Given the description of an element on the screen output the (x, y) to click on. 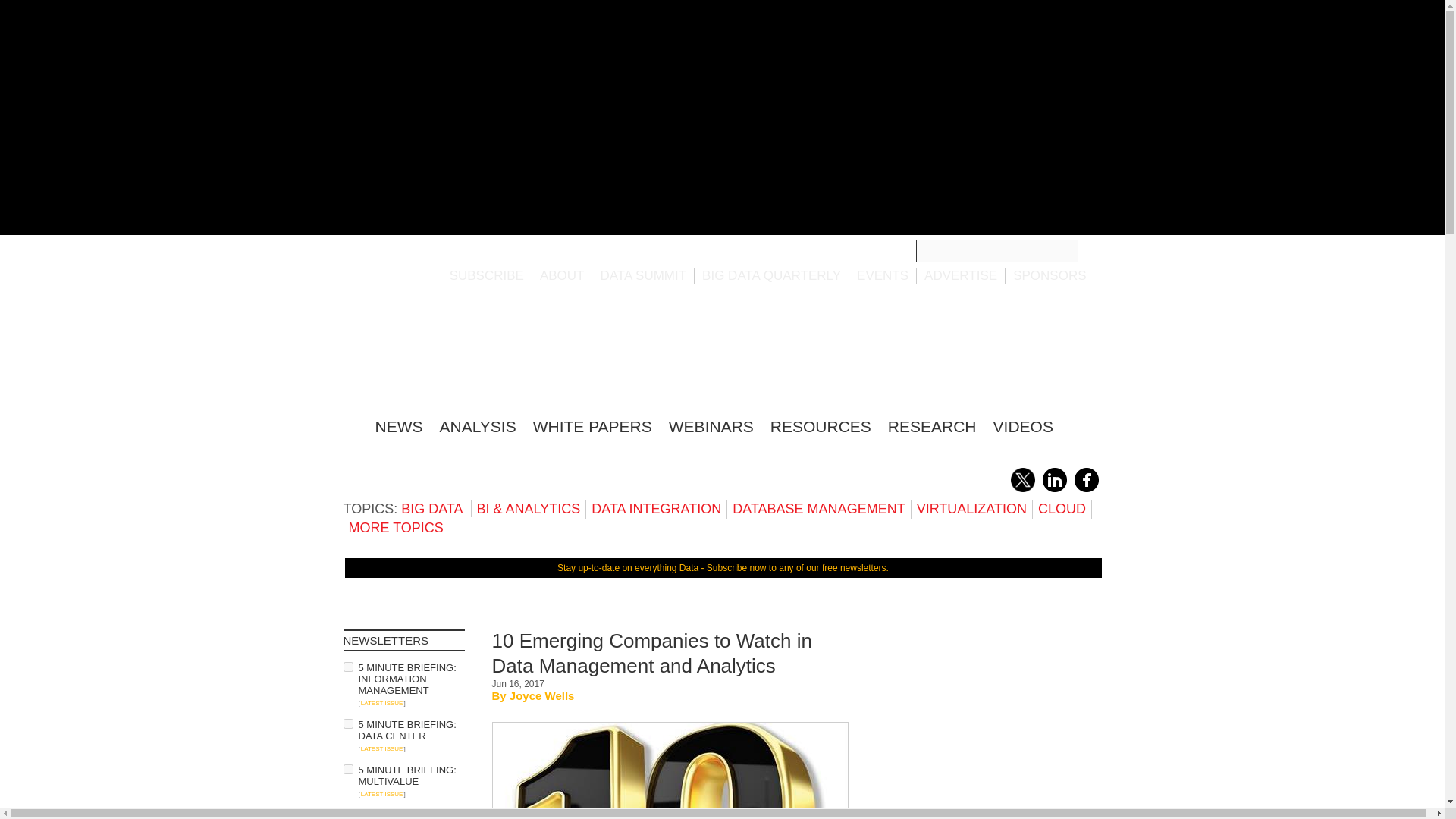
ADVERTISE (960, 275)
ANALYSIS (477, 425)
DBTA (434, 352)
RESEARCH (932, 425)
NEWS (398, 425)
on (347, 666)
DBTA on Twitter (1021, 489)
DBTA on Facebook (1085, 489)
WHITE PAPERS (592, 425)
DBTA (434, 352)
EVENTS (882, 275)
BIG DATA QUARTERLY (771, 275)
Click for more articles by this author (542, 695)
Database Trends and Applications Home (350, 424)
3rd party ad content (986, 723)
